Given the description of an element on the screen output the (x, y) to click on. 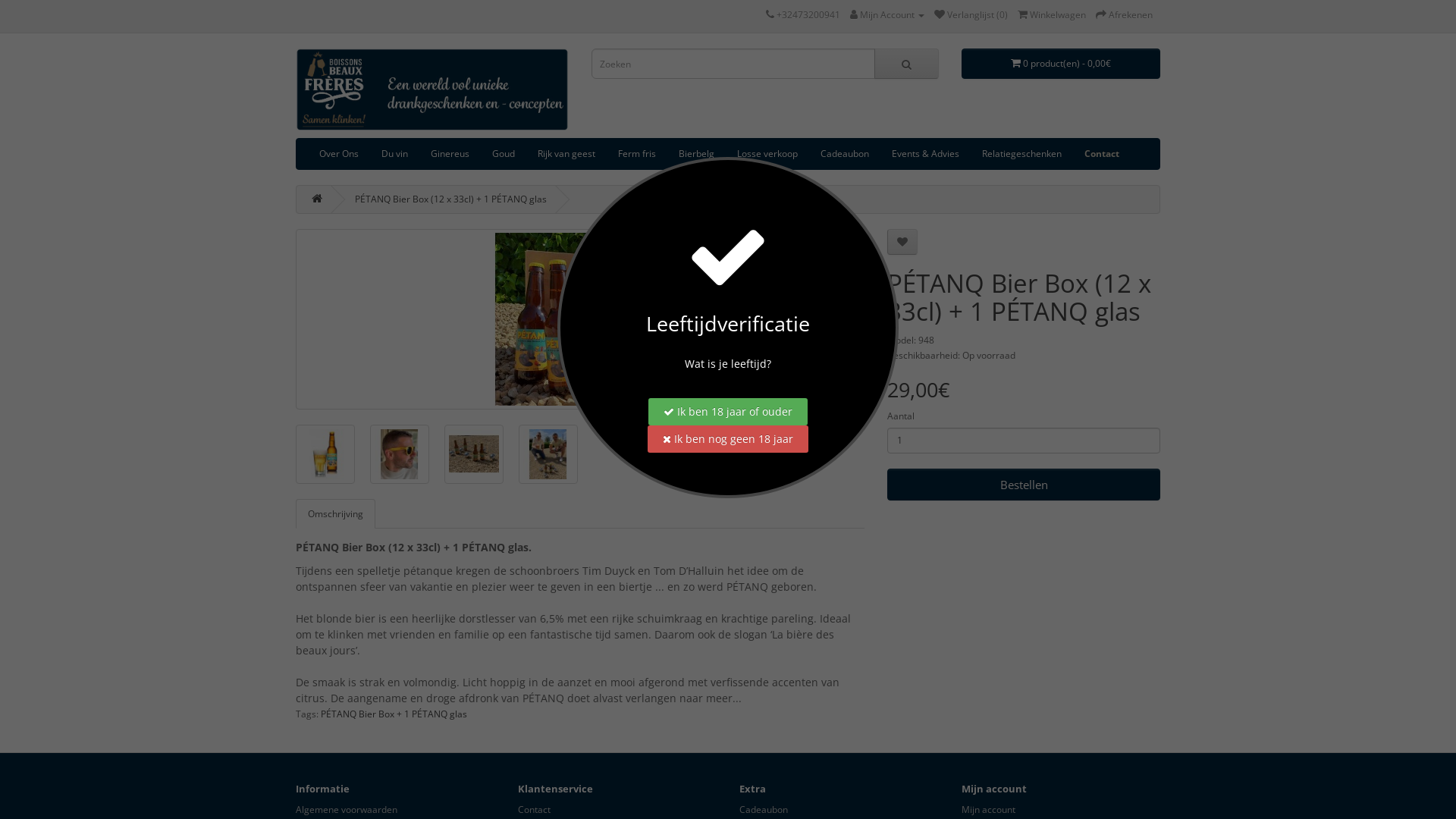
Events & Advies Element type: text (925, 153)
Algemene voorwaarden Element type: text (346, 809)
Losse verkoop Element type: text (767, 153)
Verlanglijst (0) Element type: text (970, 14)
Ik ben 18 jaar of ouder Element type: text (727, 411)
Du vin Element type: text (394, 153)
Cadeaubon Element type: text (844, 153)
Ferm fris Element type: text (636, 153)
Goud Element type: text (503, 153)
Bestellen Element type: text (1023, 484)
Bierbelg Element type: text (696, 153)
Contact Element type: text (533, 809)
Ik ben nog geen 18 jaar Element type: text (727, 438)
Cadeaubon Element type: text (763, 809)
Ginereus Element type: text (449, 153)
Afrekenen Element type: text (1123, 14)
Mijn account Element type: text (988, 809)
Mijn Account Element type: text (887, 14)
Over Ons Element type: text (338, 153)
Contact Element type: text (1101, 153)
Relatiegeschenken Element type: text (1021, 153)
Rijk van geest Element type: text (566, 153)
Omschrijving Element type: text (335, 513)
Winkelwagen Element type: text (1051, 14)
